Given the description of an element on the screen output the (x, y) to click on. 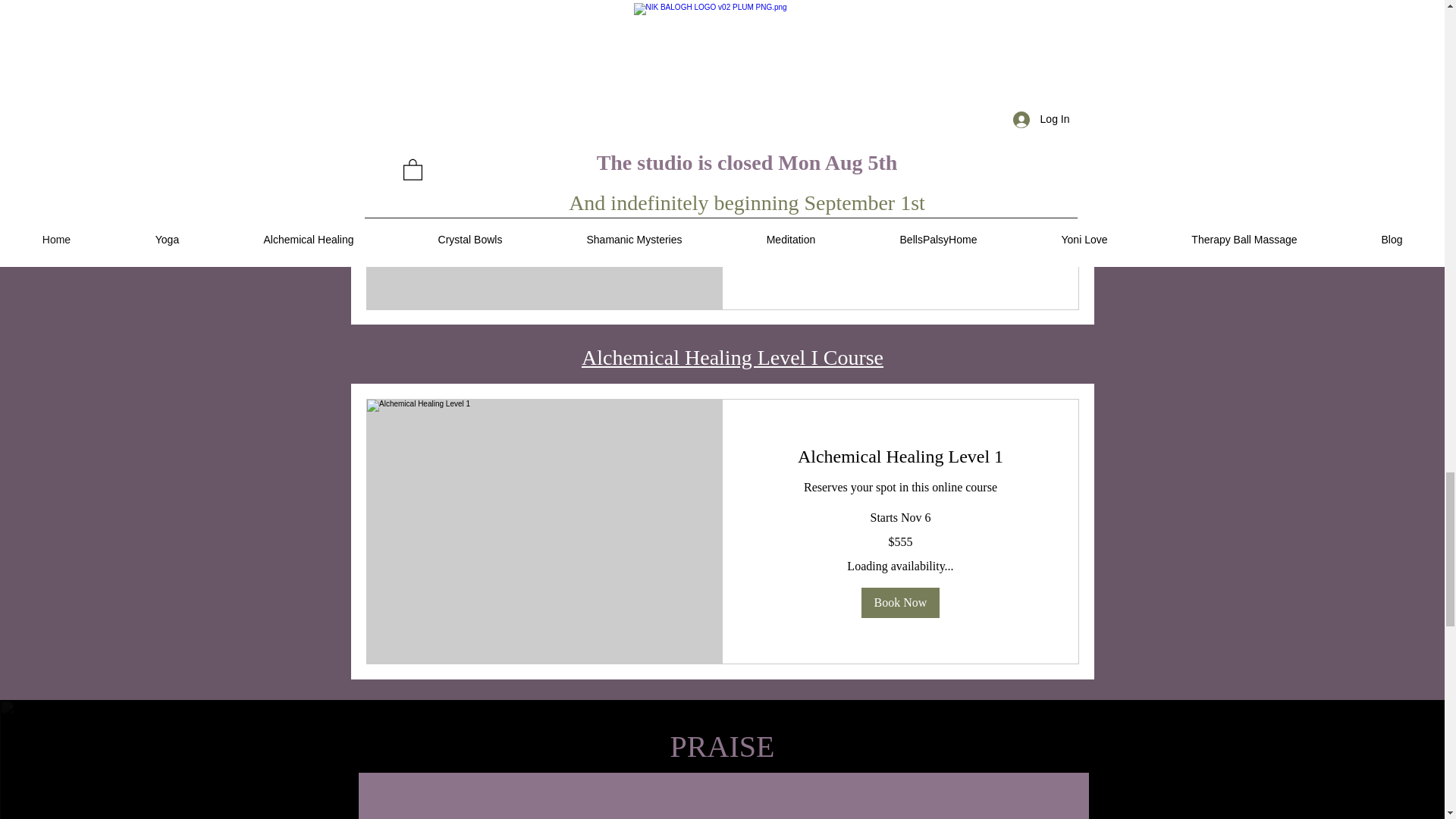
Book Now (899, 603)
Book Now (899, 247)
Sekhmet: In the Belly Of the Goddess (899, 90)
Alchemical Healing Level 1 (899, 457)
Alchemical Healing Level I Course (731, 357)
